Given the description of an element on the screen output the (x, y) to click on. 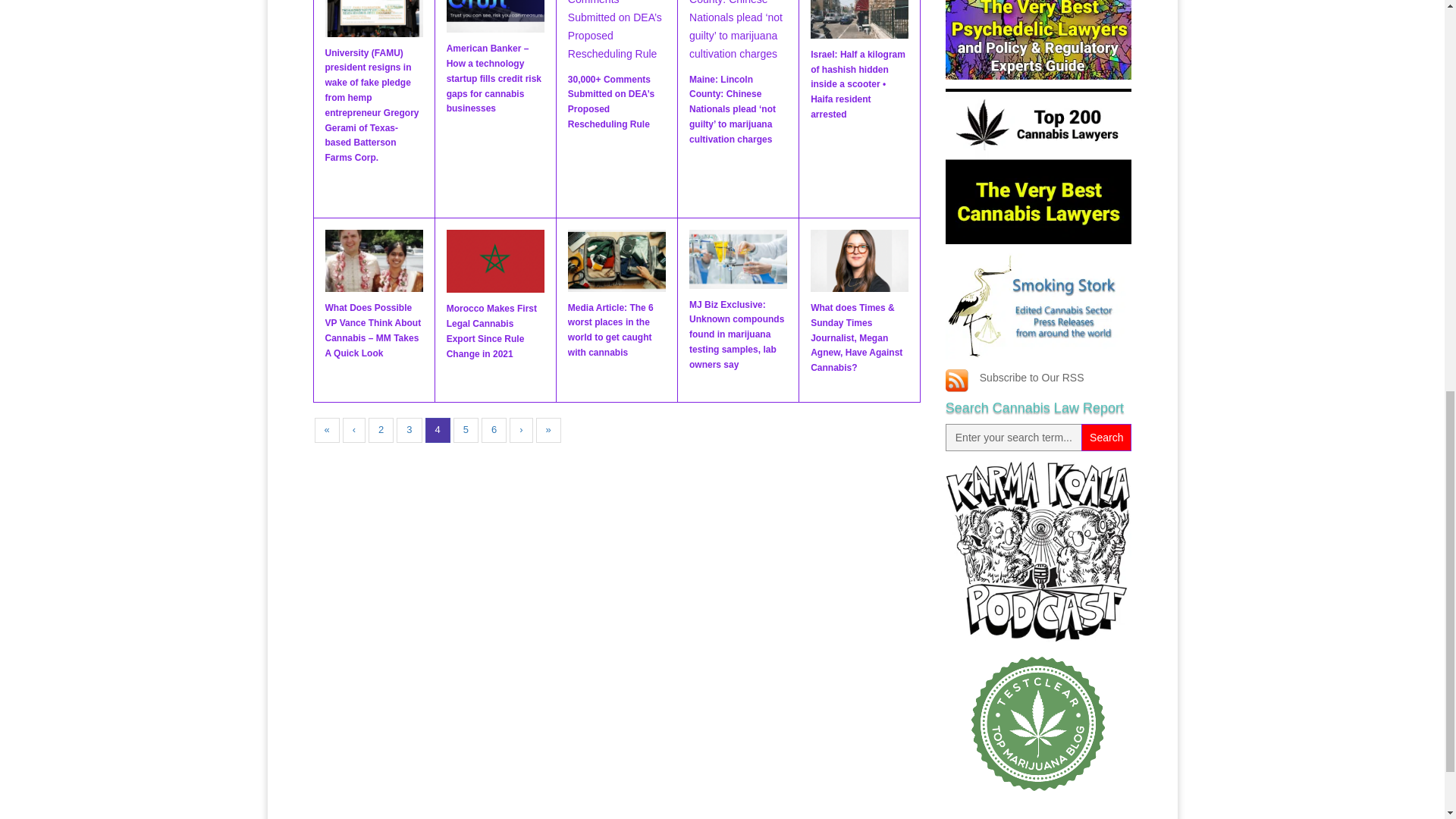
Search (1106, 437)
Go to first page (326, 430)
Current page is 4 (437, 430)
Go to page 2 (380, 430)
Go to last page (547, 430)
Go to previous page (353, 430)
Go to next page (520, 430)
Go to page 5 (465, 430)
Search (1106, 437)
Go to page 3 (409, 430)
Go to page 6 (493, 430)
